Given the description of an element on the screen output the (x, y) to click on. 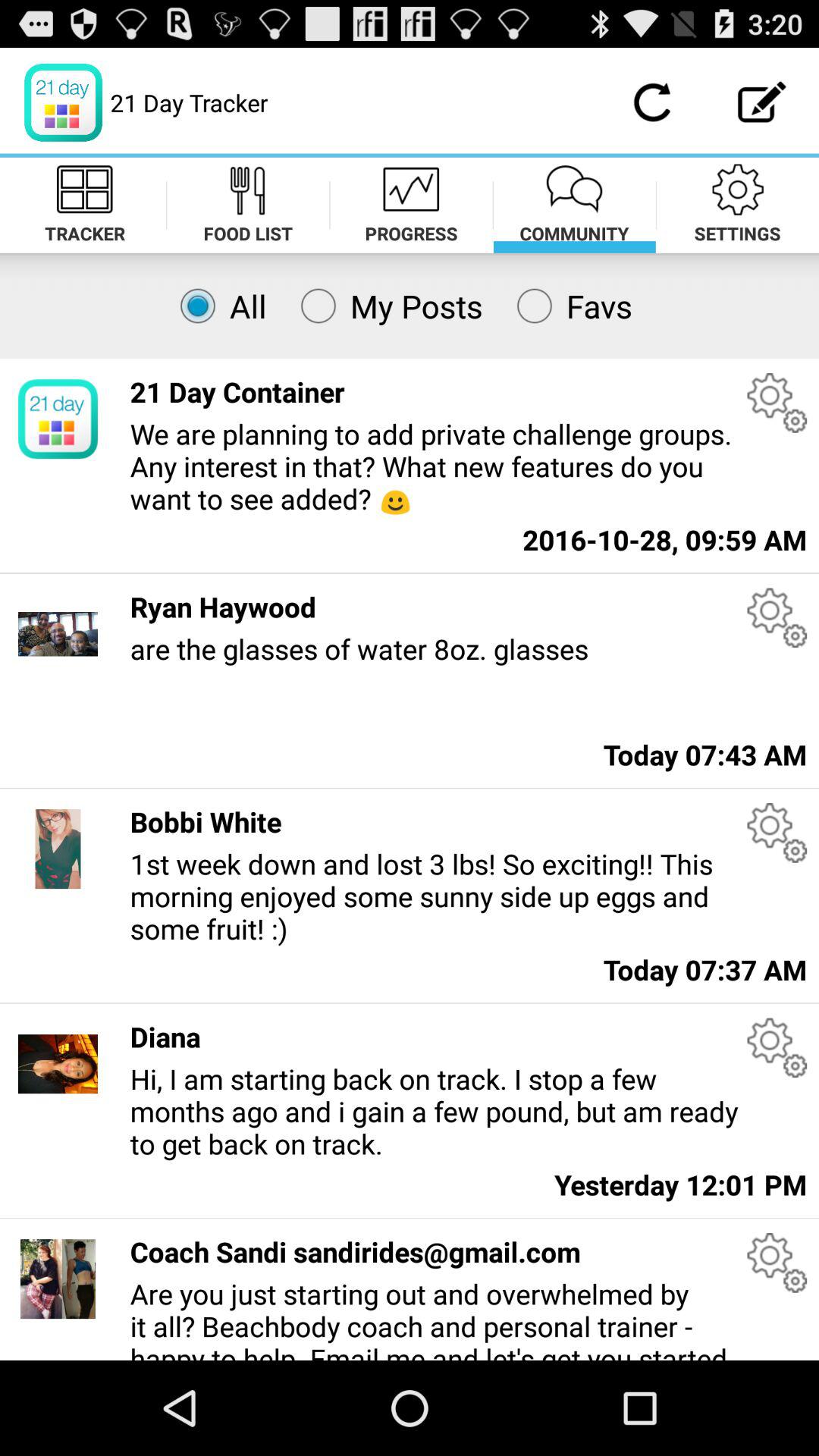
open settings (777, 1047)
